Given the description of an element on the screen output the (x, y) to click on. 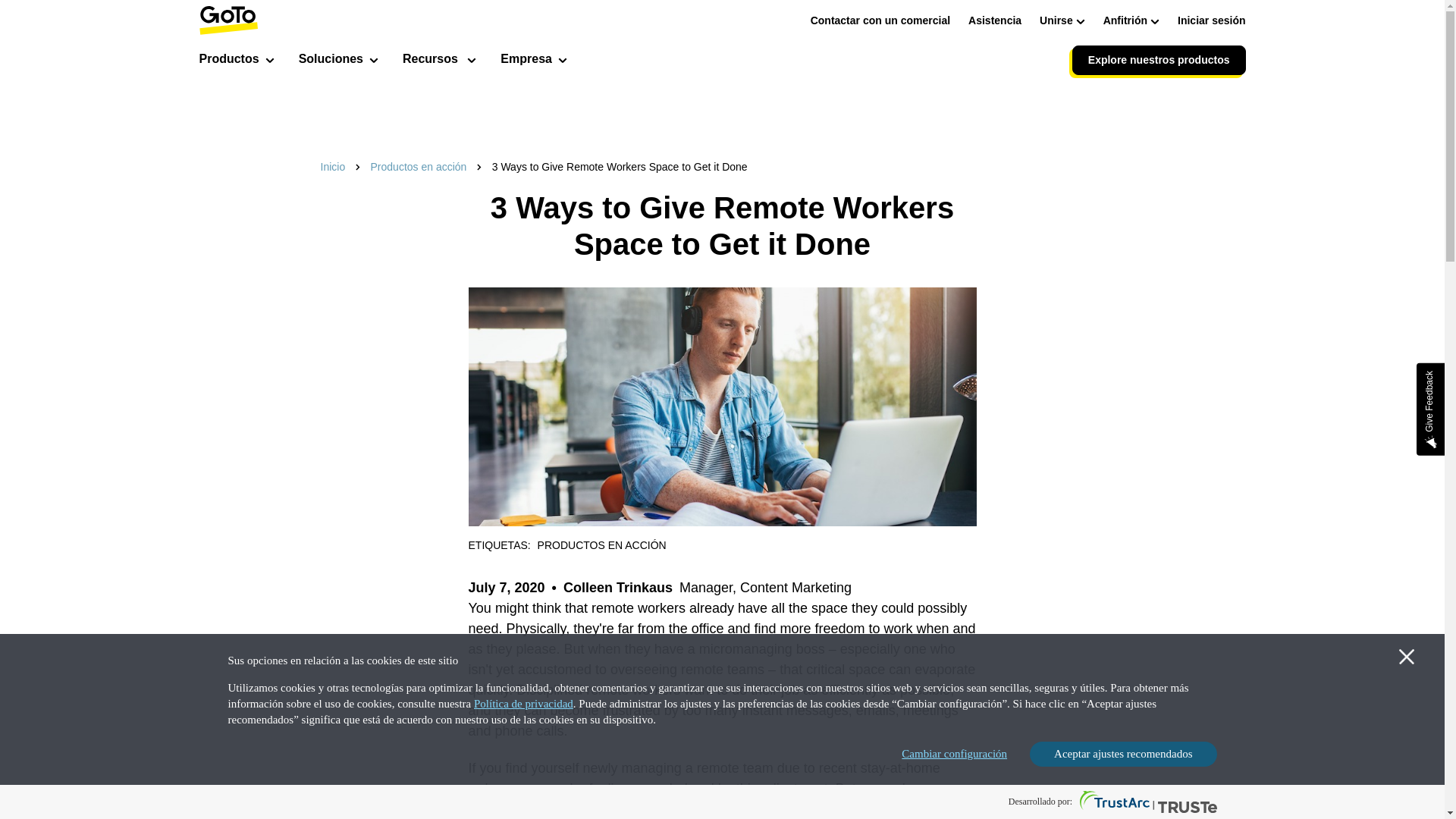
Productos (235, 61)
Soluciones (338, 61)
